Given the description of an element on the screen output the (x, y) to click on. 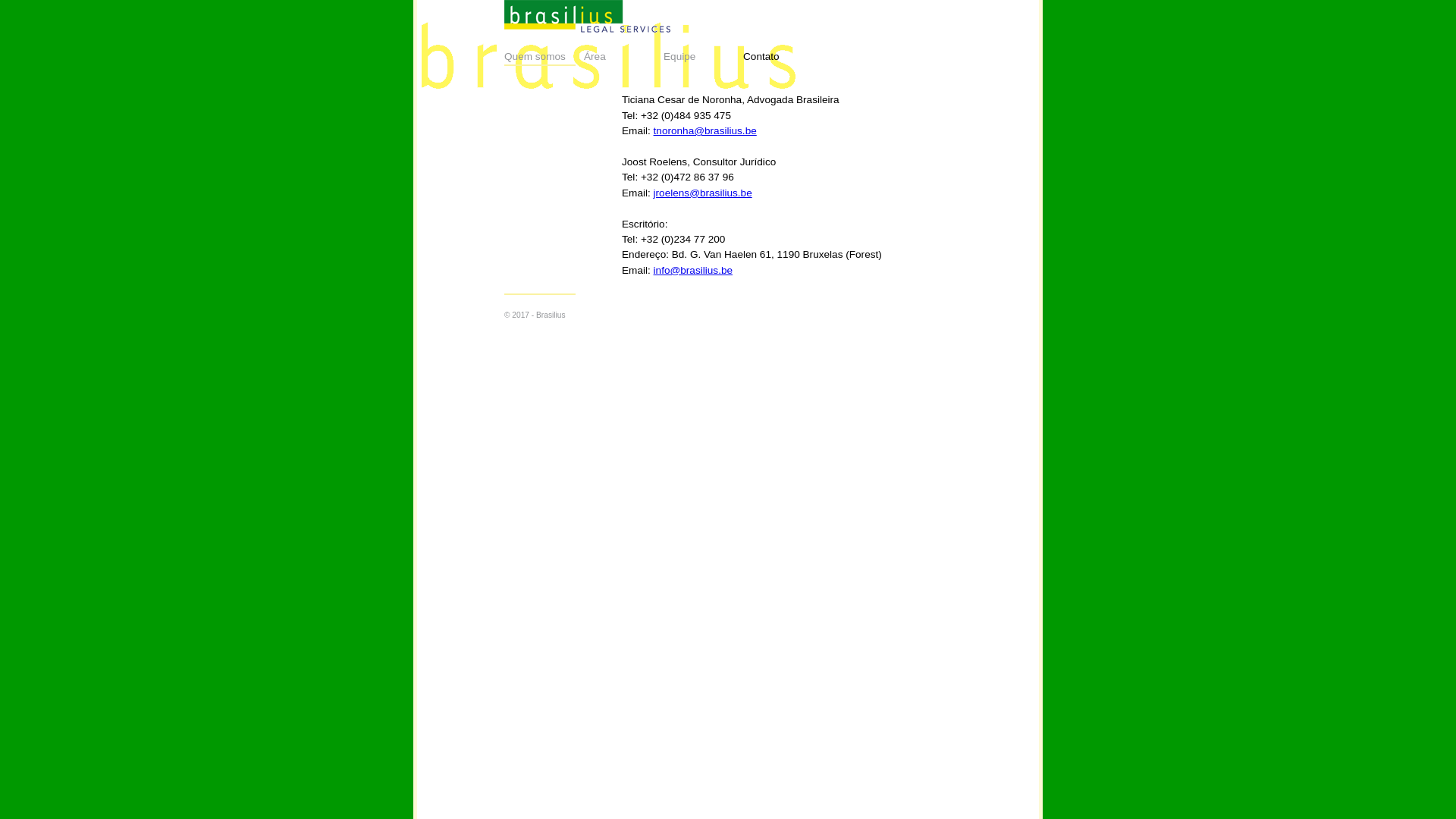
Equipe Element type: text (703, 56)
Quem somos Element type: text (543, 56)
jroelens@brasilius.be Element type: text (702, 192)
tnoronha@brasilius.be Element type: text (704, 130)
info@brasilius.be Element type: text (692, 270)
Brasilius Legal Services Element type: hover (587, 16)
Contato Element type: text (782, 56)
